Given the description of an element on the screen output the (x, y) to click on. 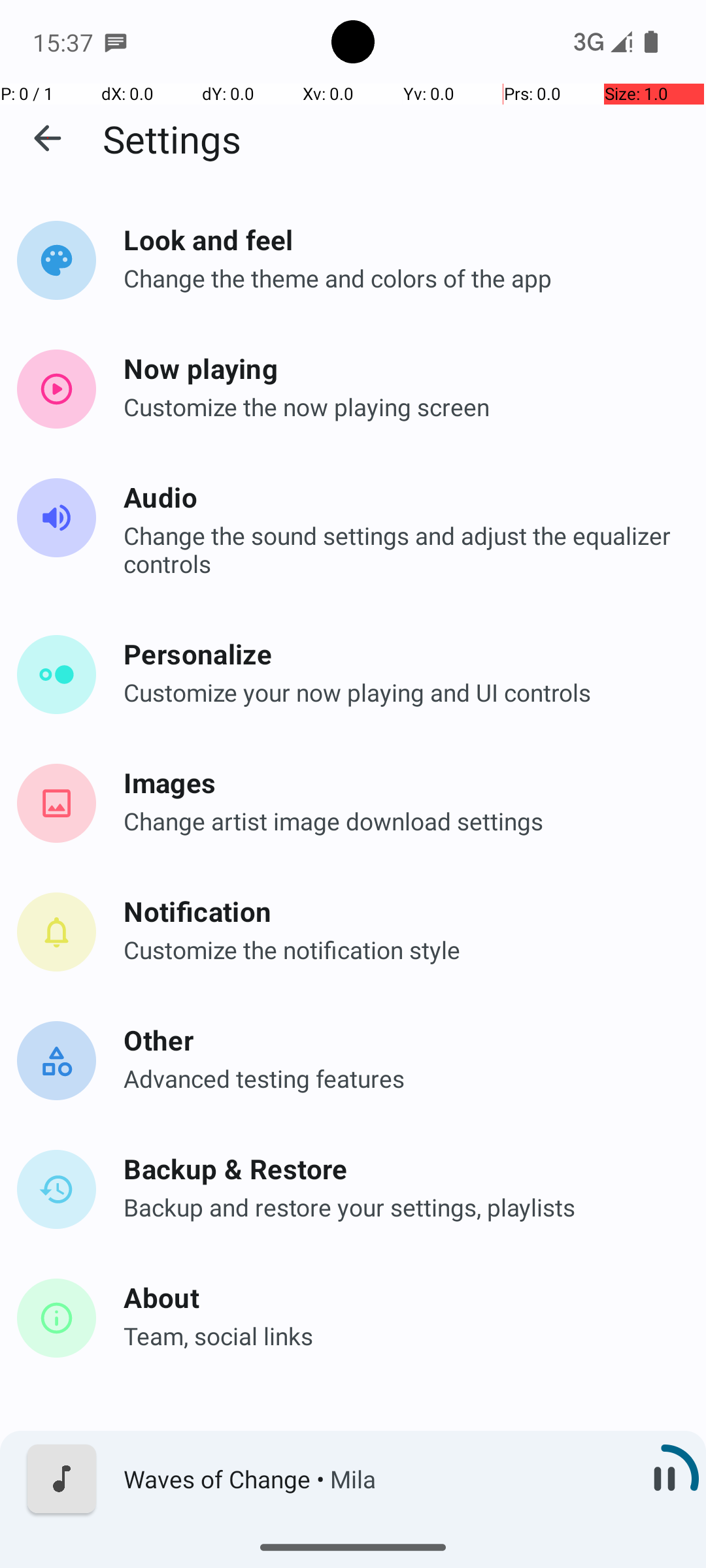
Waves of Change • Mila Element type: android.widget.TextView (372, 1478)
Look and feel Element type: android.widget.TextView (399, 239)
Change the theme and colors of the app Element type: android.widget.TextView (399, 277)
Now playing Element type: android.widget.TextView (399, 367)
Customize the now playing screen Element type: android.widget.TextView (399, 406)
Change the sound settings and adjust the equalizer controls Element type: android.widget.TextView (399, 549)
Personalize Element type: android.widget.TextView (399, 653)
Customize your now playing and UI controls Element type: android.widget.TextView (399, 691)
Change artist image download settings Element type: android.widget.TextView (399, 820)
Notification Element type: android.widget.TextView (399, 910)
Customize the notification style Element type: android.widget.TextView (399, 949)
Advanced testing features Element type: android.widget.TextView (399, 1077)
Backup & Restore Element type: android.widget.TextView (399, 1168)
Backup and restore your settings, playlists Element type: android.widget.TextView (399, 1206)
Team, social links Element type: android.widget.TextView (399, 1335)
15:37 Element type: android.widget.TextView (64, 41)
